Given the description of an element on the screen output the (x, y) to click on. 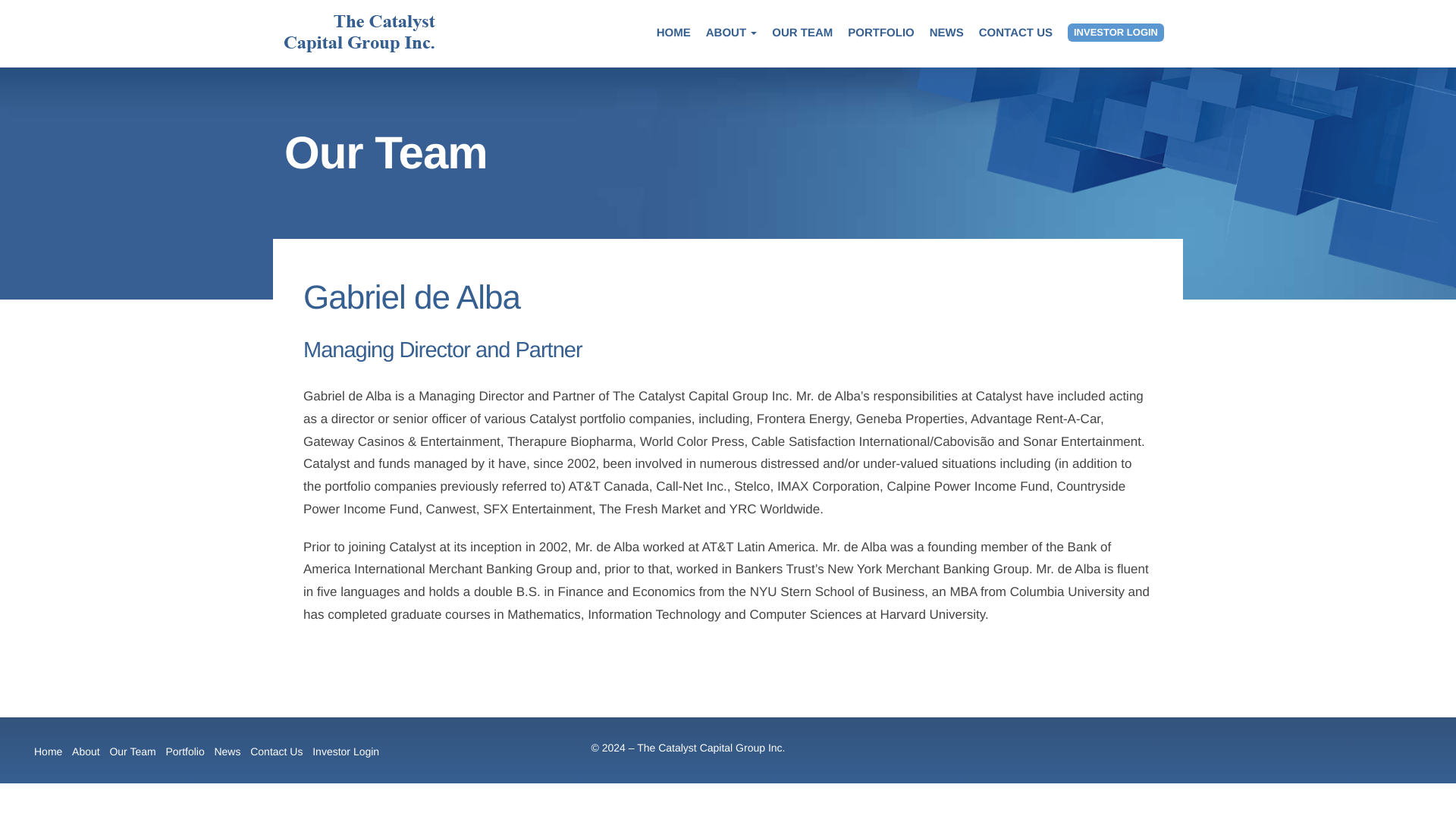
Contact Us (276, 752)
Investor Login (345, 752)
NEWS (946, 33)
HOME (673, 33)
CONTACT US (1015, 33)
OUR TEAM (801, 33)
Home (47, 752)
News (227, 752)
Portfolio (184, 752)
About (85, 752)
ABOUT (731, 33)
Our Team (132, 752)
PORTFOLIO (880, 33)
INVESTOR LOGIN (1115, 32)
Catalyst Capital (359, 33)
